Given the description of an element on the screen output the (x, y) to click on. 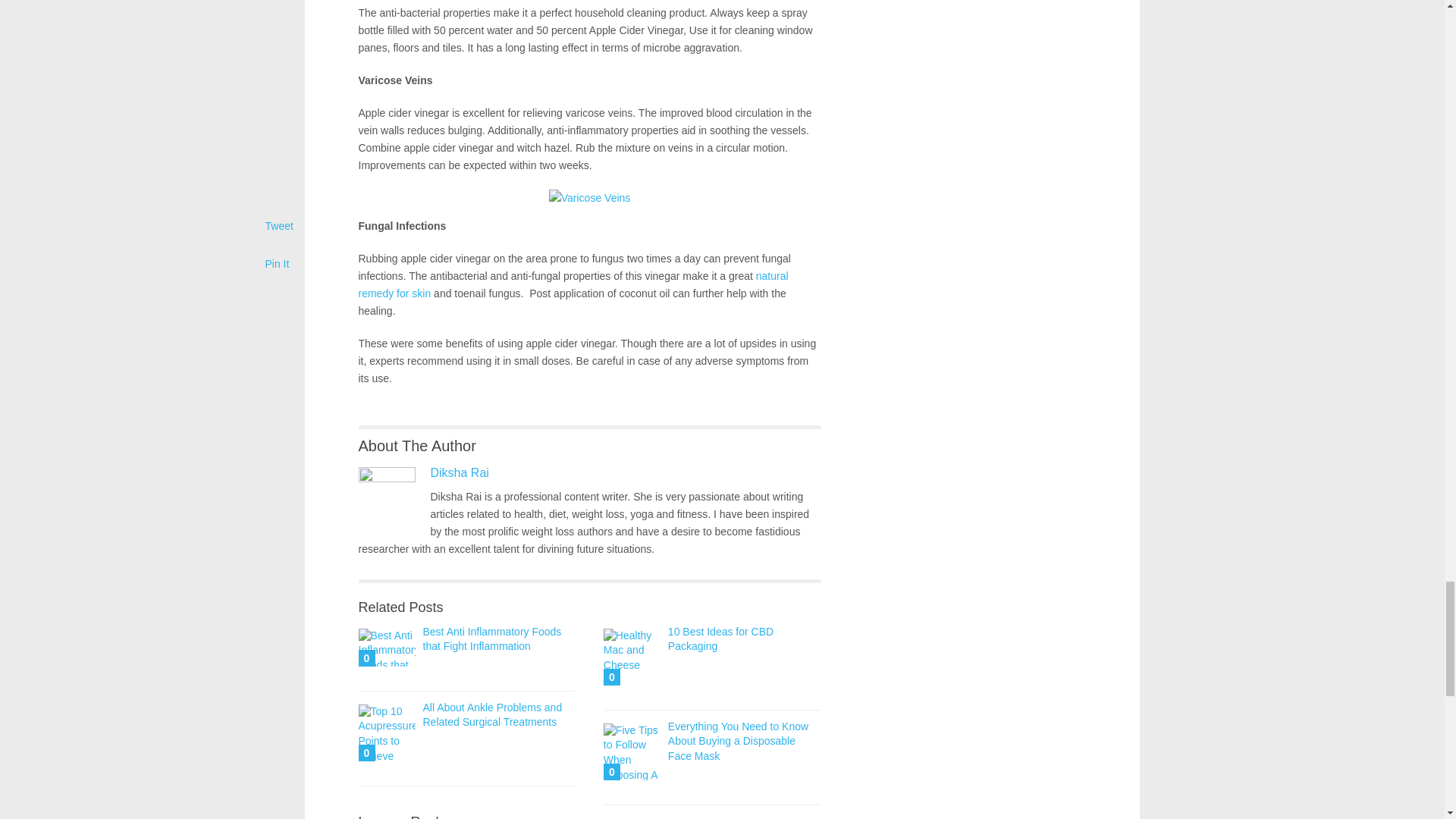
Five Tips to Follow When Choosing A PPE Supplier (632, 751)
All About Ankle Problems and Related Surgical Treatments (492, 714)
Best Anti Inflammatory Foods that Fight Inflammation (492, 638)
10 Best Ideas for CBD Packaging (720, 638)
Top 10 Acupressure Points to Relieve Headache and Migraine (386, 732)
